Given the description of an element on the screen output the (x, y) to click on. 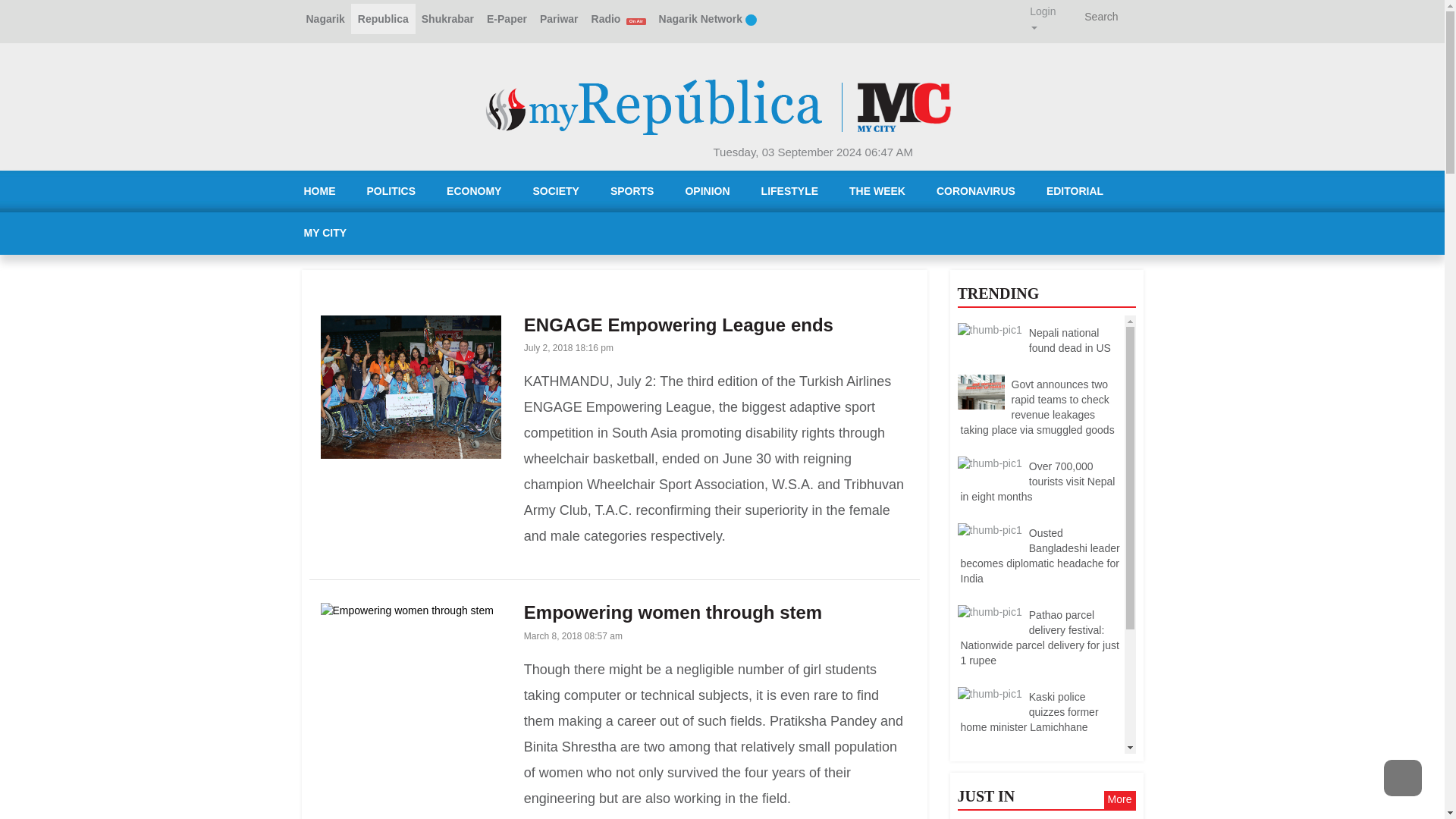
Login (1042, 10)
THE WEEK (876, 191)
Pariwar (558, 19)
Query Your News (1098, 16)
Republica (382, 19)
HOME (319, 191)
SPORTS (632, 191)
  Search (1098, 16)
E-Paper (507, 19)
Nagarik Network  (707, 19)
